Given the description of an element on the screen output the (x, y) to click on. 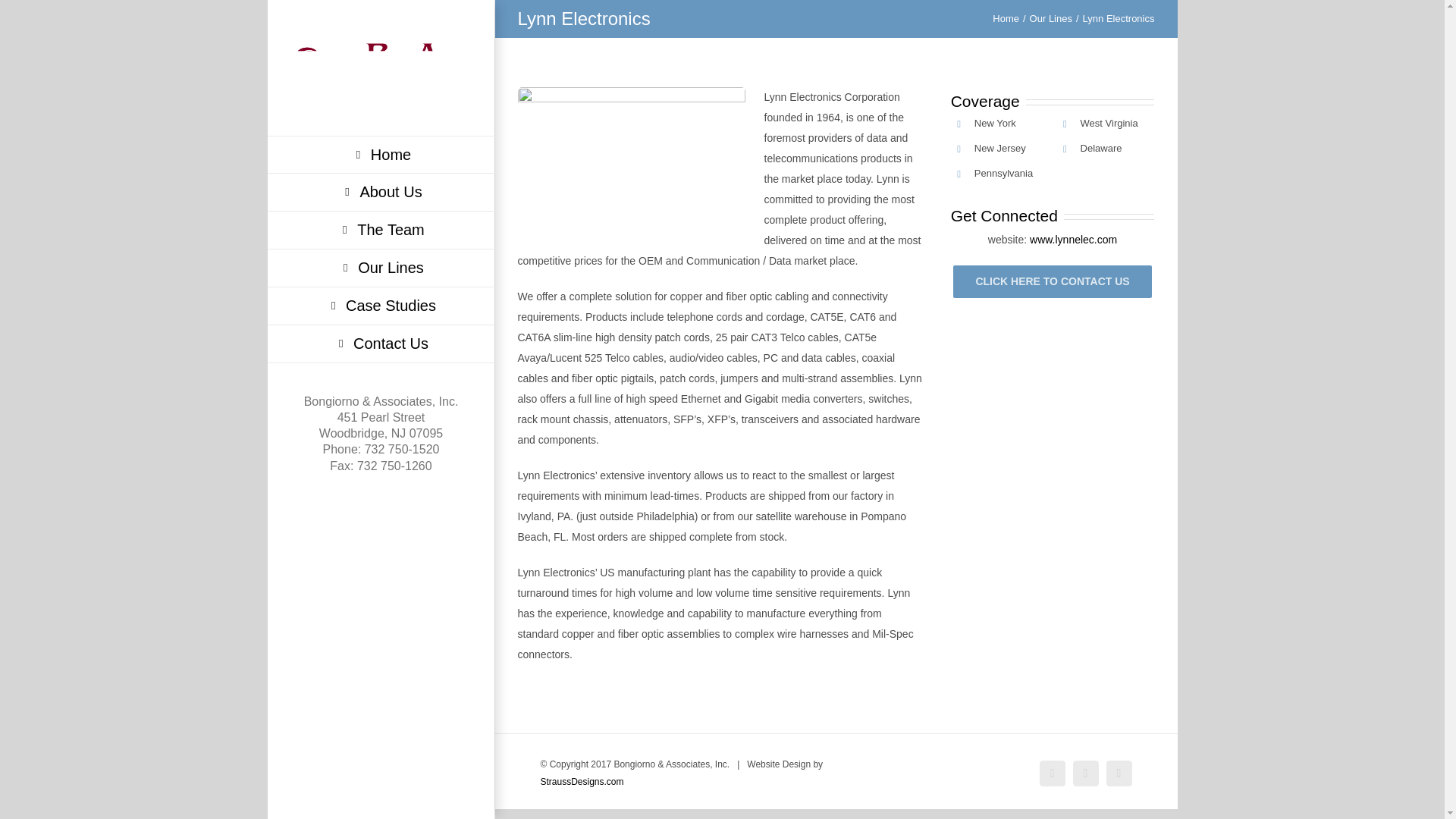
Home (380, 154)
Twitter (1084, 773)
Facebook (1051, 773)
www.lynnelec.com (1072, 239)
Twitter (1084, 773)
The Team (380, 230)
Facebook (1051, 773)
Our Lines (1050, 18)
lynn (630, 162)
Linkedin (1118, 773)
StraussDesigns.com (581, 781)
Our Lines (380, 268)
CLICK HERE TO CONTACT US (1052, 281)
Contact Us (380, 344)
Case Studies (380, 306)
